Given the description of an element on the screen output the (x, y) to click on. 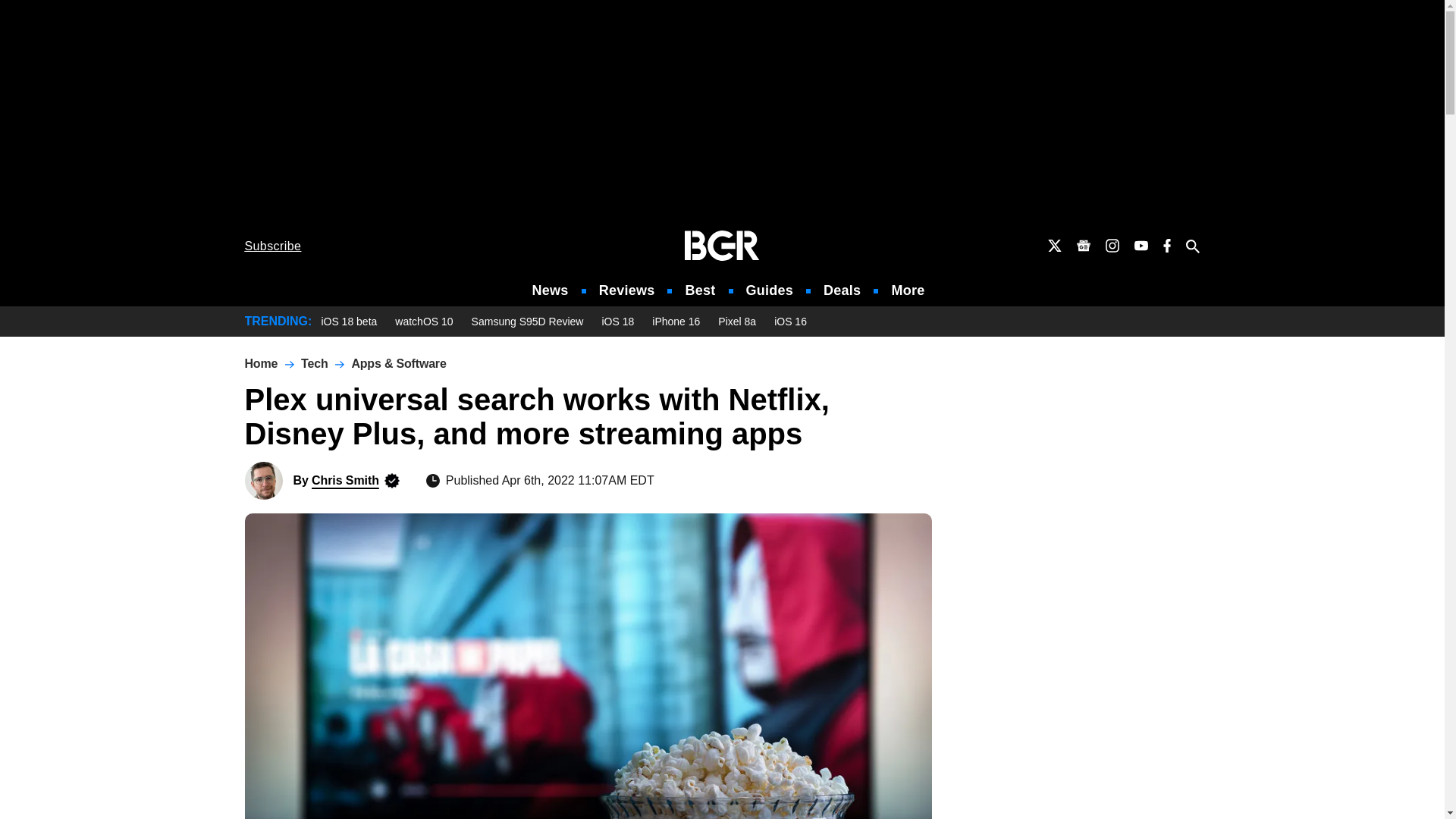
Posts by Chris Smith (344, 480)
Deals (842, 290)
Reviews (626, 290)
Best (699, 290)
Subscribe (272, 245)
More (907, 290)
Guides (769, 290)
News (550, 290)
